Given the description of an element on the screen output the (x, y) to click on. 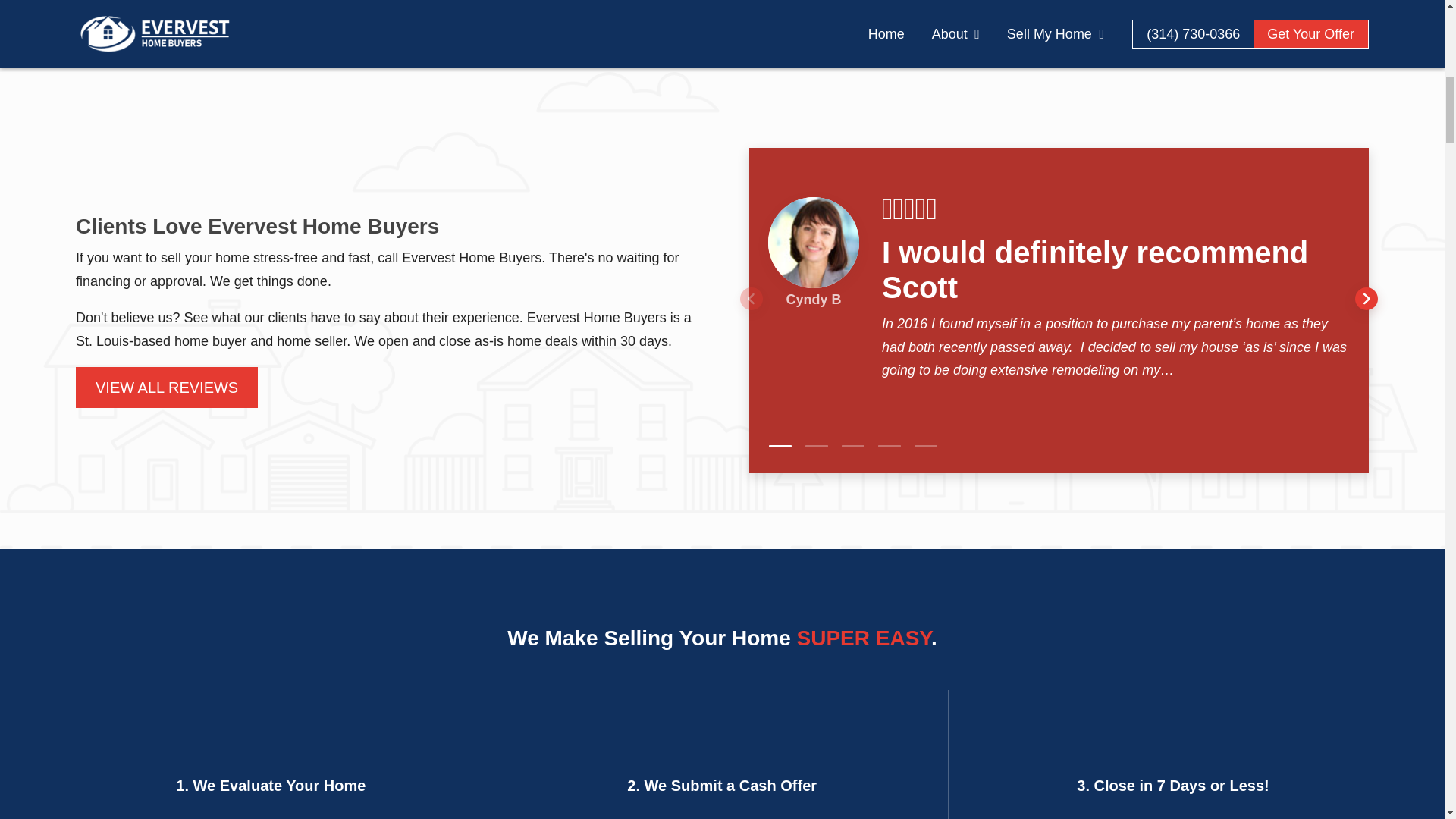
VIEW ALL ANSWERS (1080, 29)
VIEW ALL REVIEWS (166, 386)
